Given the description of an element on the screen output the (x, y) to click on. 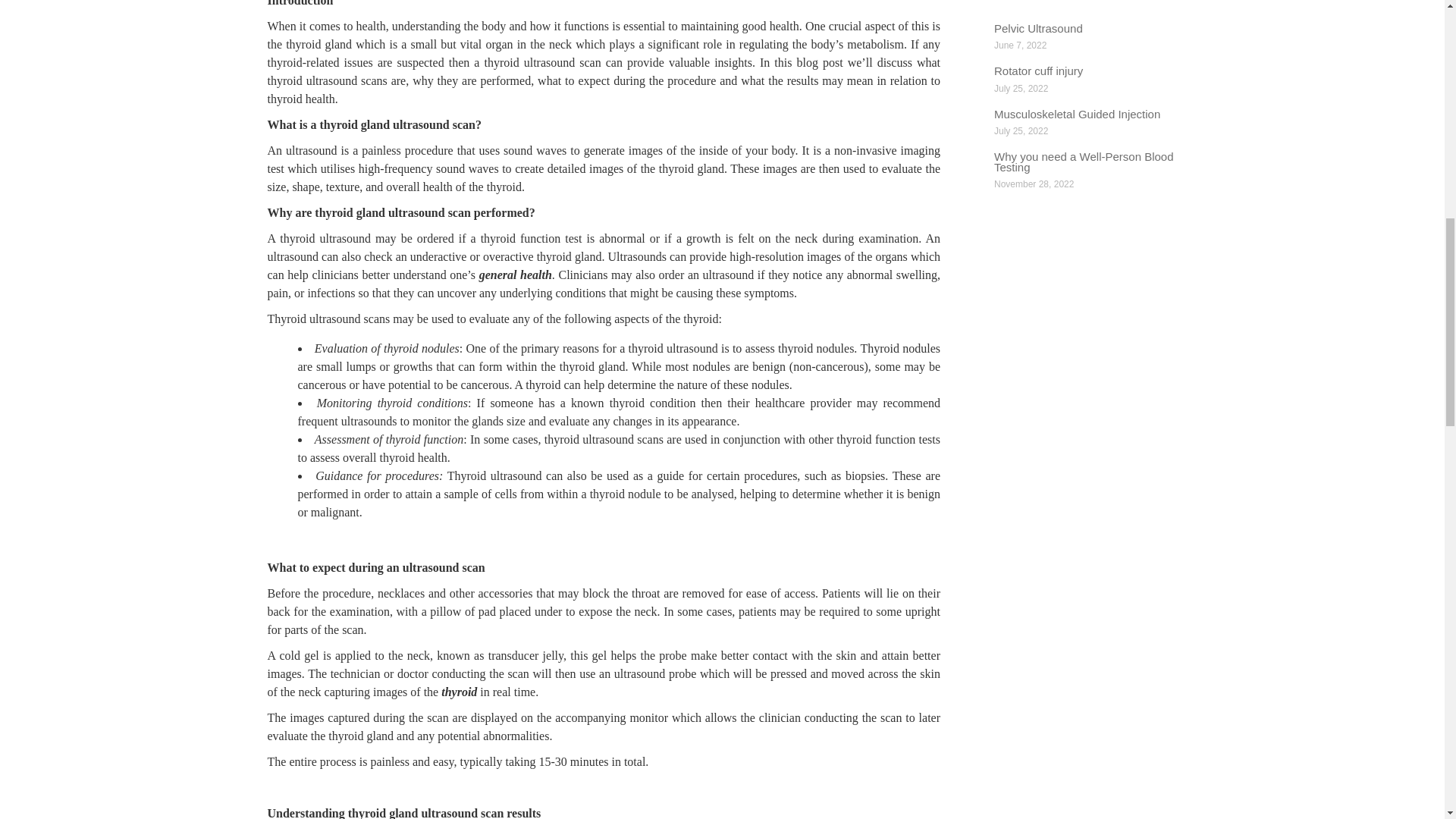
Why you need a Well-Person Blood Testing (1083, 161)
Musculoskeletal Guided Injection (1077, 113)
Pelvic Ultrasound (1038, 28)
Rotator cuff injury (1038, 70)
